Given the description of an element on the screen output the (x, y) to click on. 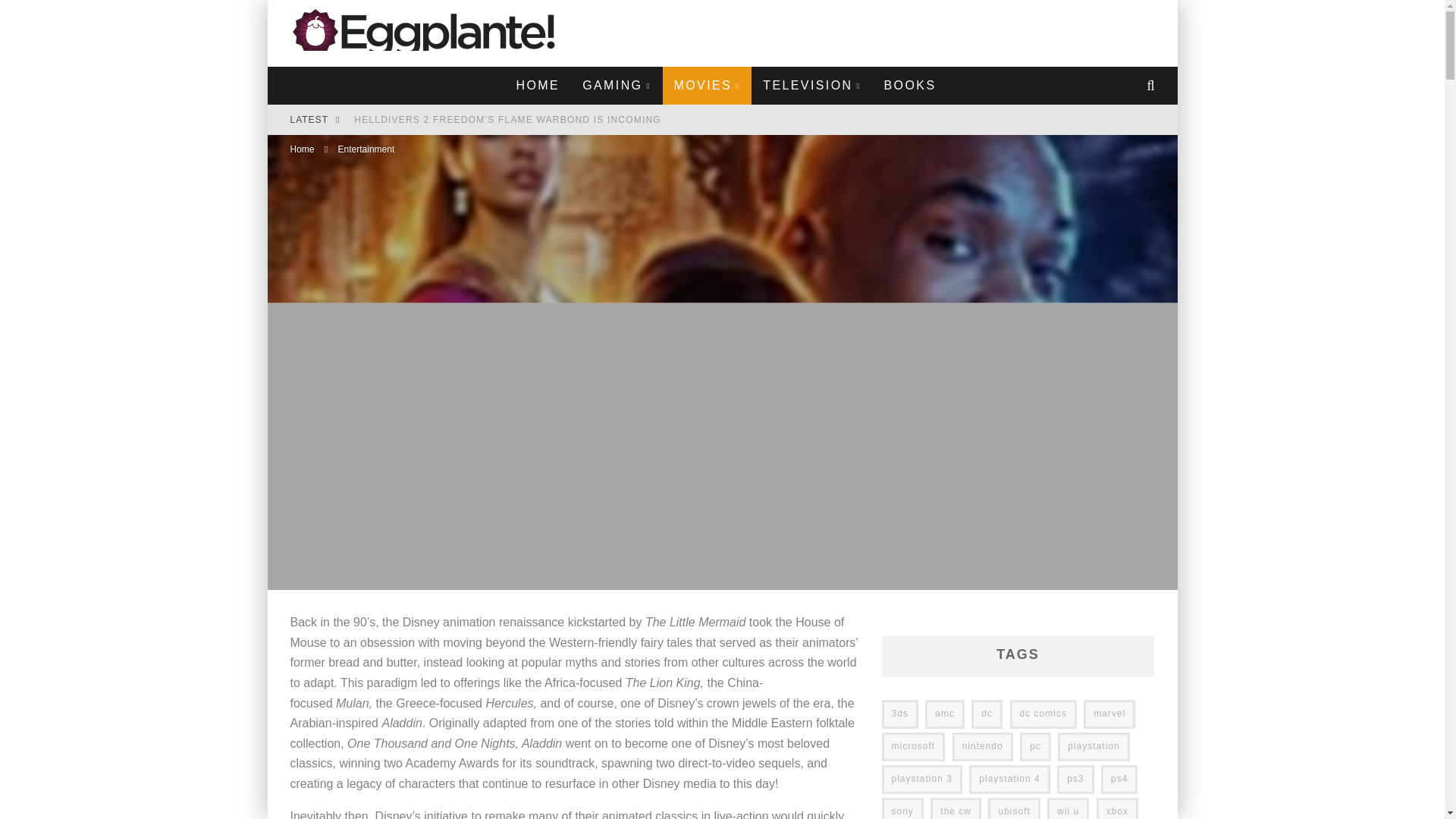
MOVIES (707, 85)
TELEVISION (811, 85)
GAMING (616, 85)
HOME (538, 85)
